Given the description of an element on the screen output the (x, y) to click on. 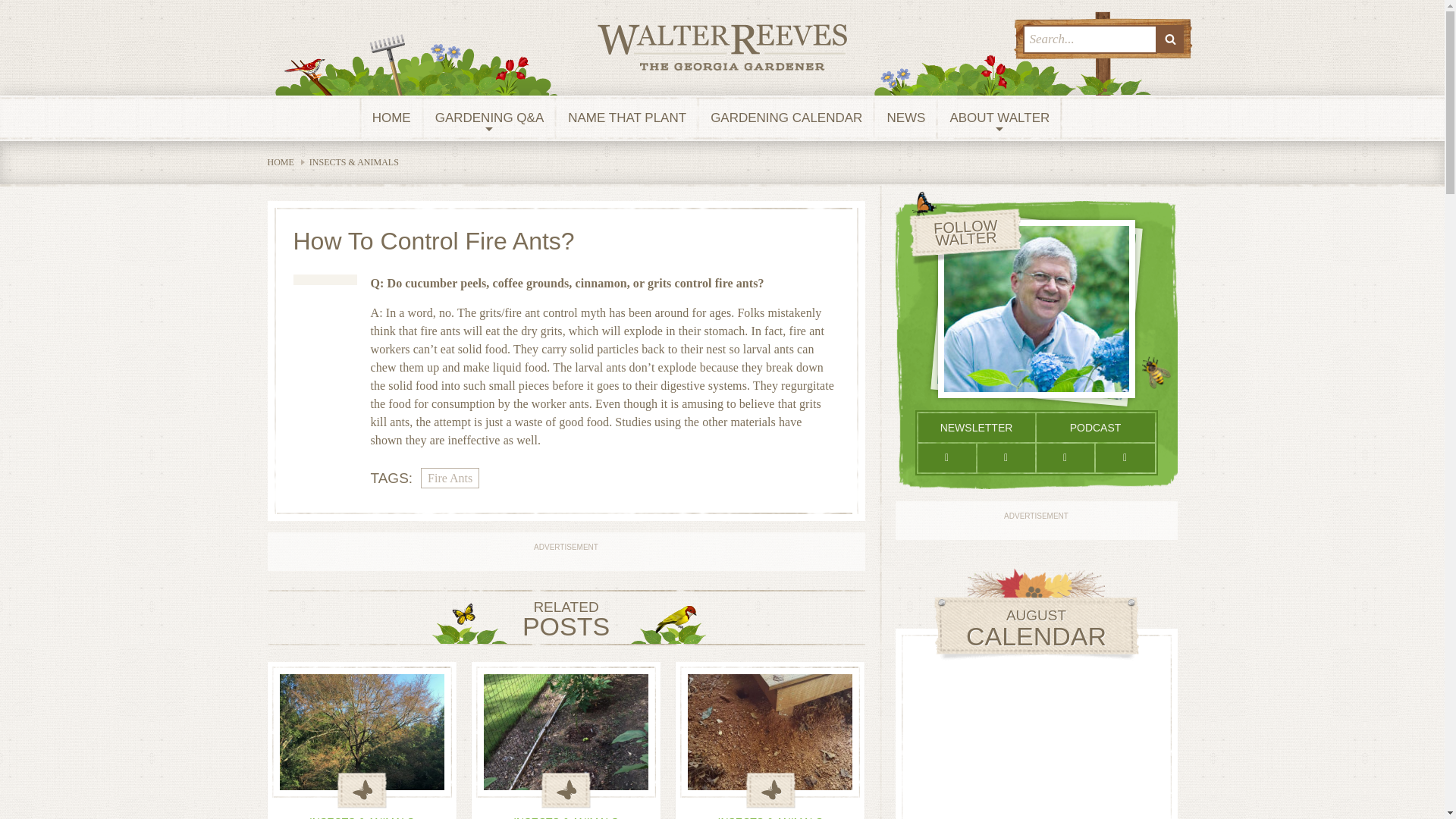
GARDENING CALENDAR (786, 117)
NEWS (906, 117)
NAME THAT PLANT (627, 117)
ABOUT WALTER (999, 117)
SEARCH (1170, 39)
Search for: (1089, 39)
HOME (391, 117)
